Given the description of an element on the screen output the (x, y) to click on. 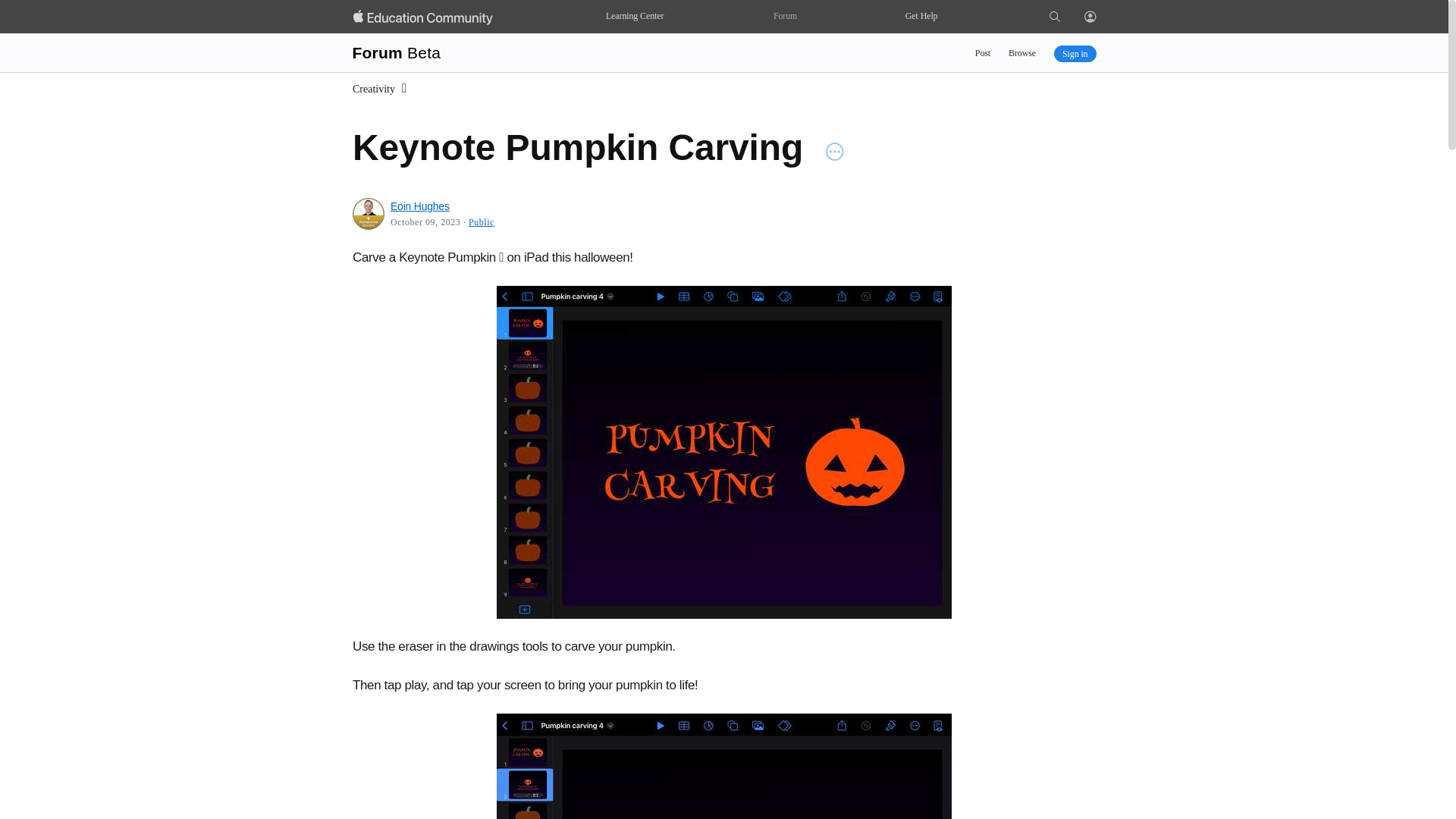
Sign in (1088, 14)
Use the eraser to carve your pumpkin.  (724, 766)
Public (481, 222)
Sign in (1075, 53)
Forum (784, 16)
Get Help (921, 16)
Forum Beta (396, 53)
Eoin Hughes (419, 206)
Learning Center (634, 16)
Education Community (423, 17)
User profile for user: ehughes (368, 214)
Post (982, 53)
Creativity (381, 89)
Browse (1022, 53)
